Given the description of an element on the screen output the (x, y) to click on. 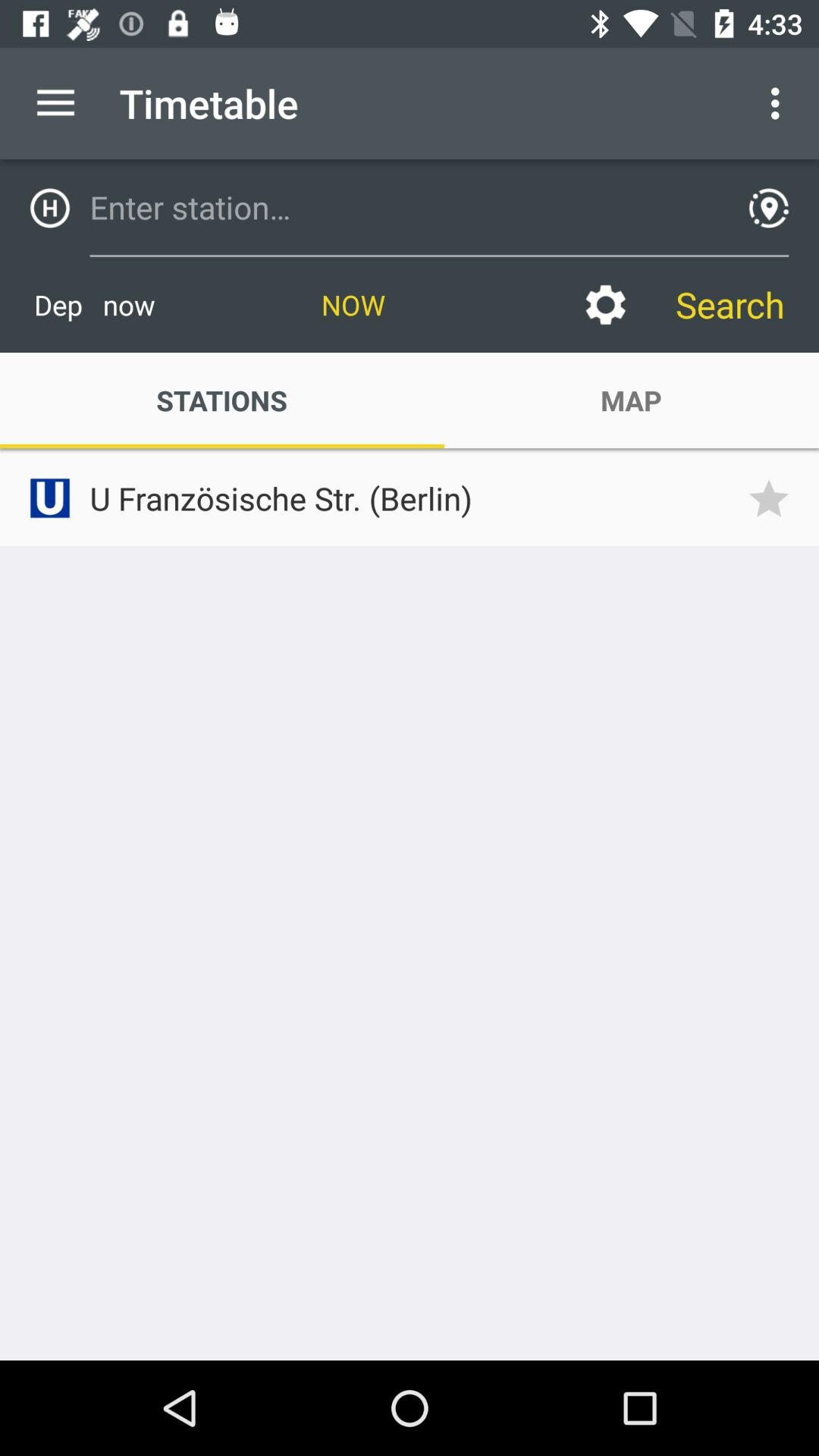
tap item next to stations icon (631, 400)
